Given the description of an element on the screen output the (x, y) to click on. 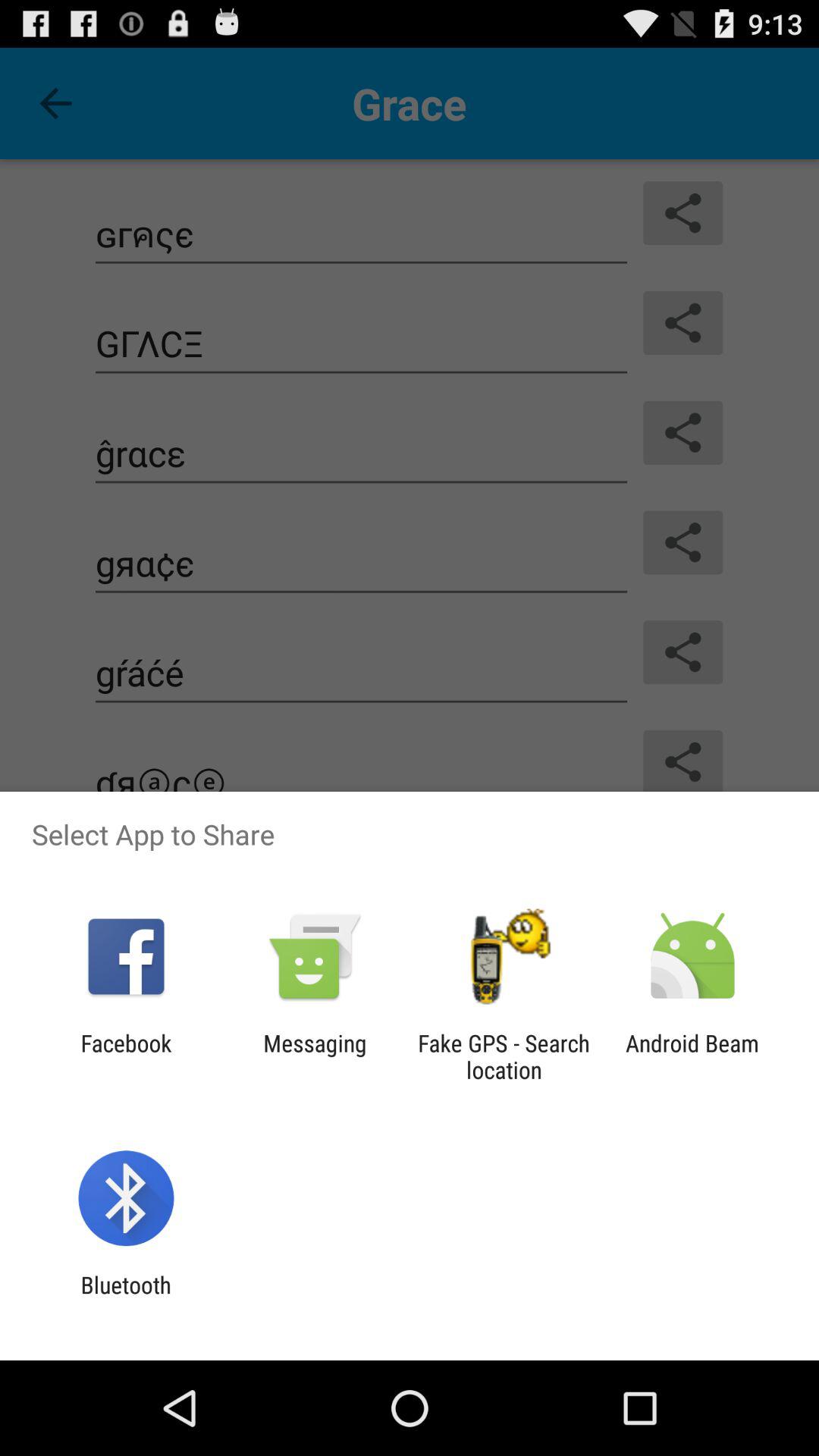
select icon next to the facebook app (314, 1056)
